Given the description of an element on the screen output the (x, y) to click on. 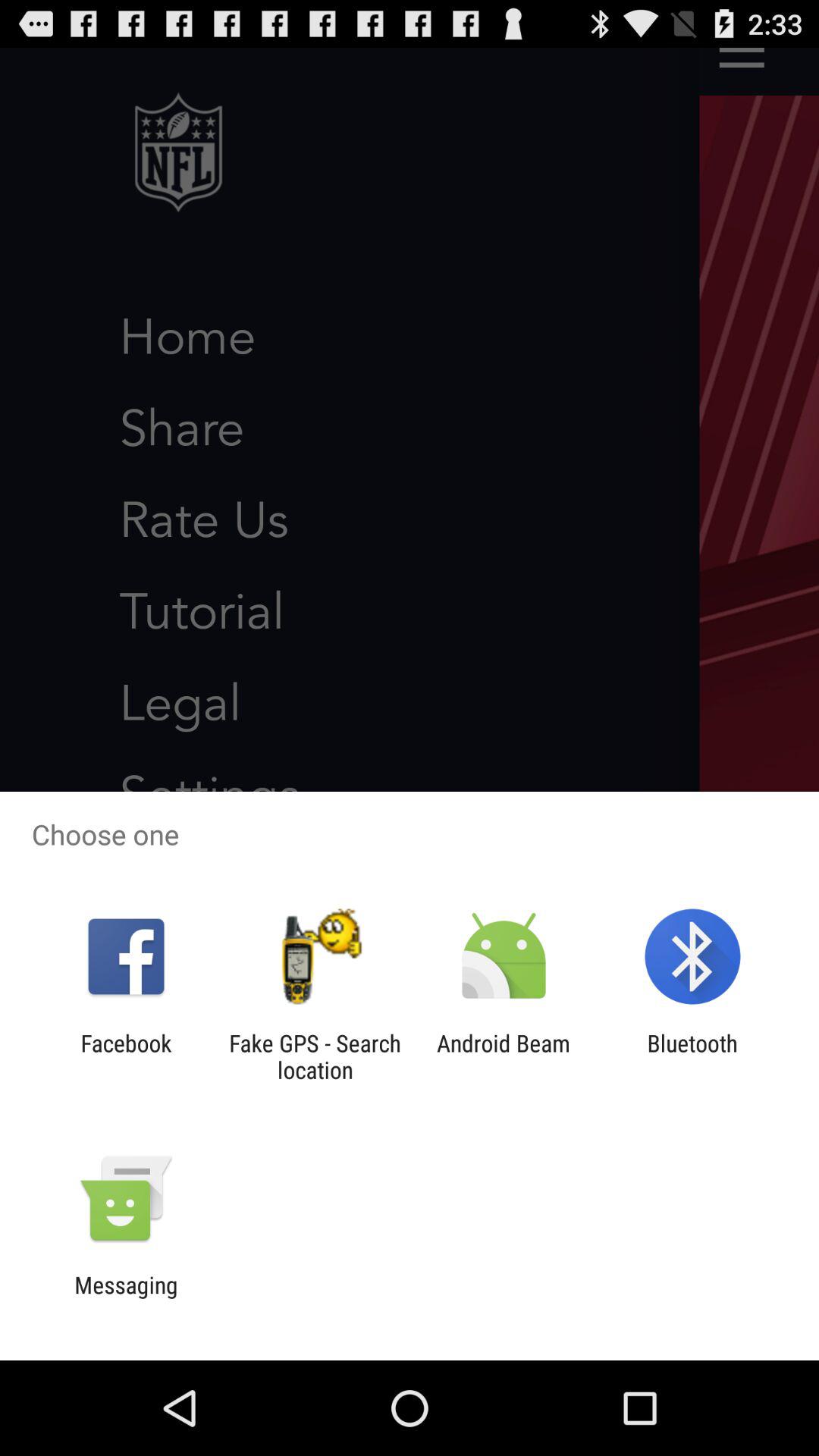
launch icon next to the fake gps search icon (125, 1056)
